Given the description of an element on the screen output the (x, y) to click on. 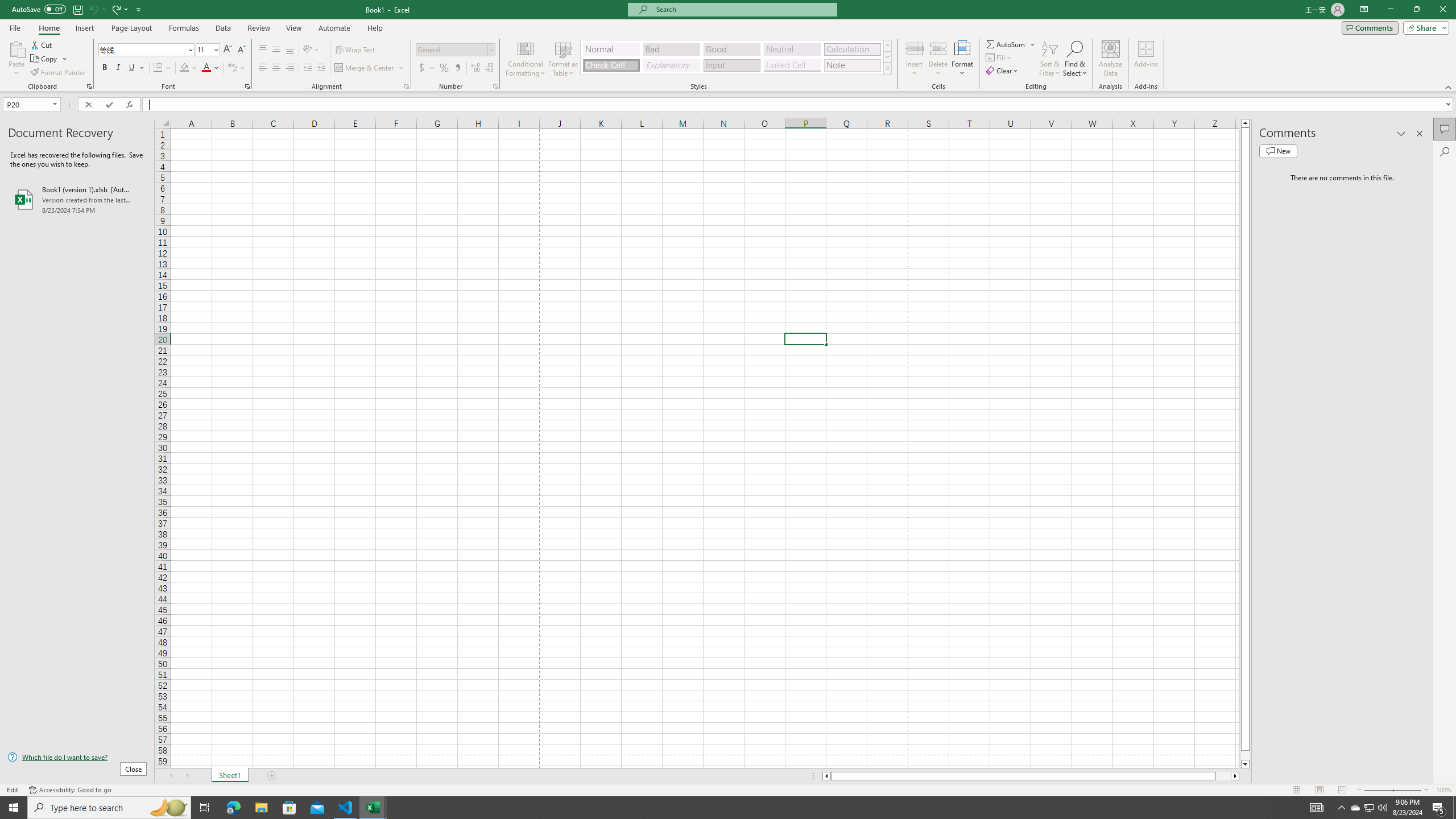
Column right (1235, 775)
AutoSum (1011, 44)
Increase Font Size (227, 49)
Copy (49, 58)
Decrease Font Size (240, 49)
Collapse the Ribbon (1448, 86)
Good (731, 49)
Format Cell Number (494, 85)
Zoom In (1426, 790)
Italic (118, 67)
Cut (42, 44)
Analyze Data (1110, 58)
Normal (611, 49)
Percent Style (443, 67)
